Given the description of an element on the screen output the (x, y) to click on. 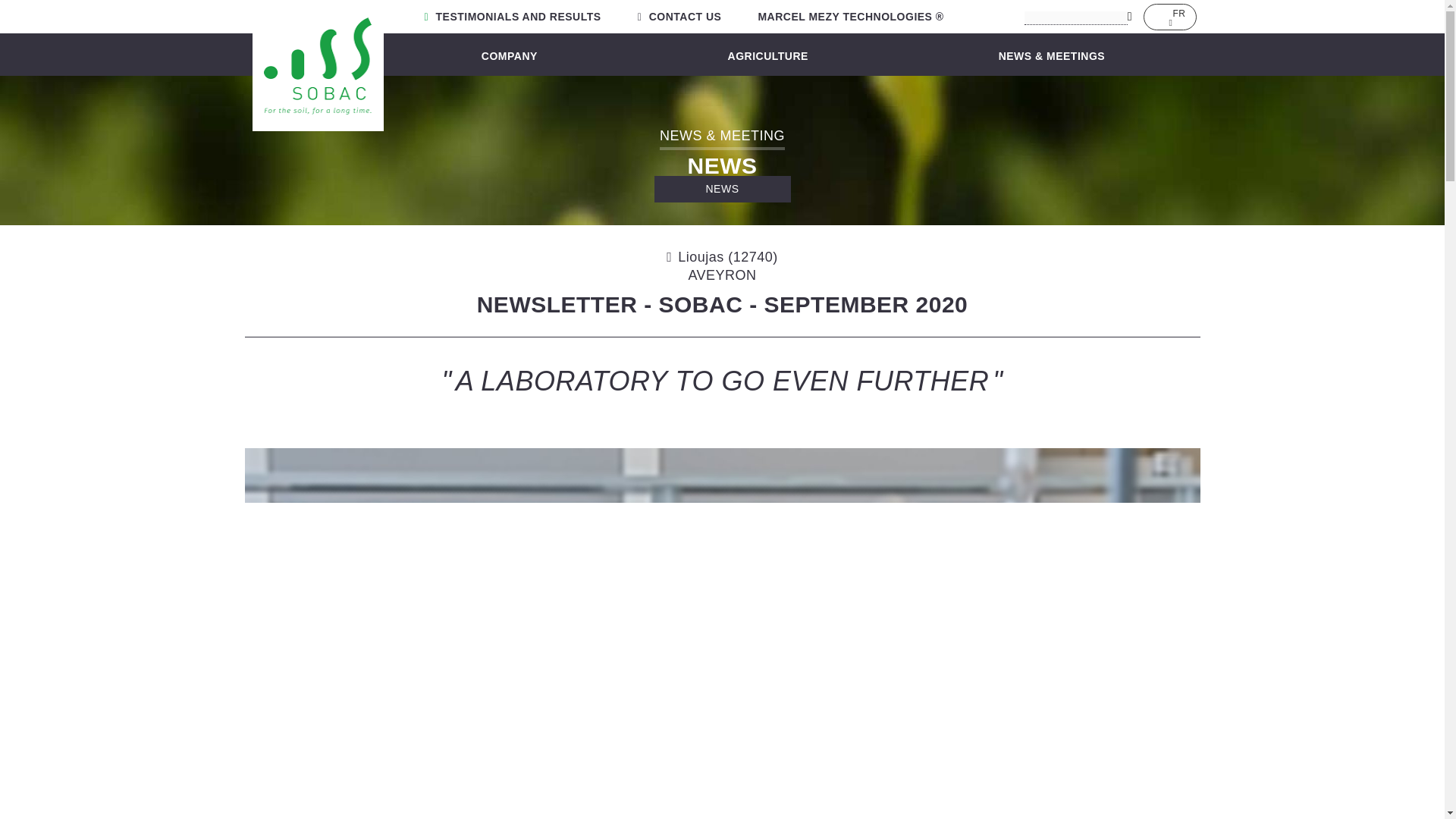
Home (316, 65)
AGRICULTURE (767, 57)
FR (1168, 15)
COMPANY (509, 57)
TESTIMONIALS AND RESULTS (513, 16)
CONTACT US (679, 16)
Enter the terms you wish to search for. (1075, 18)
